Given the description of an element on the screen output the (x, y) to click on. 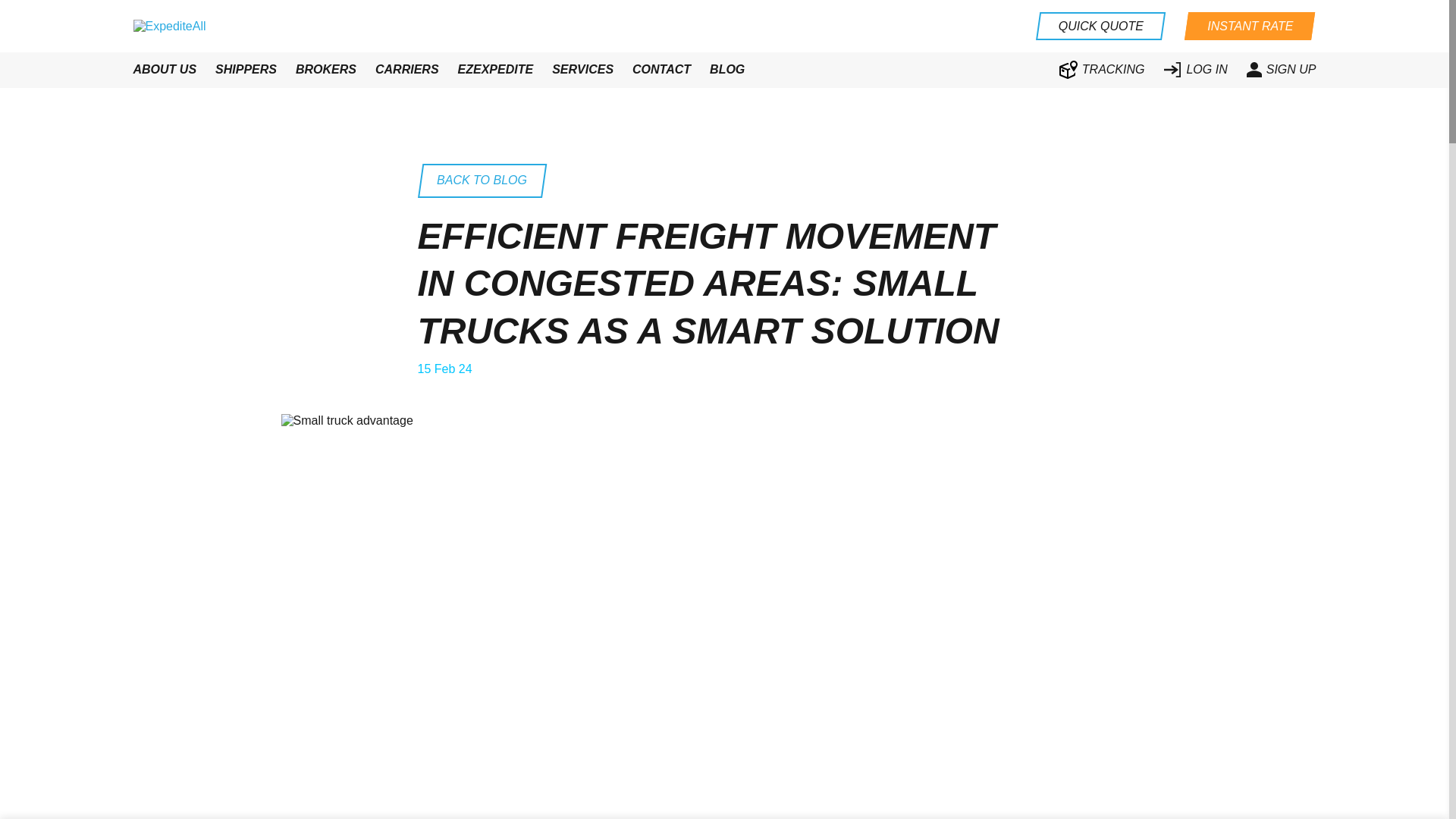
SIGN UP (1281, 69)
SERVICES (581, 69)
INSTANT RATE (1250, 26)
ExpediteAll (169, 26)
BACK TO BLOG (481, 180)
QUICK QUOTE (1100, 26)
BLOG (727, 69)
SHIPPERS (245, 69)
CARRIERS (407, 69)
EZEXPEDITE (496, 69)
ABOUT US (164, 69)
TRACKING (1101, 69)
Call me (140, 17)
CONTACT (660, 69)
BROKERS (325, 69)
